Given the description of an element on the screen output the (x, y) to click on. 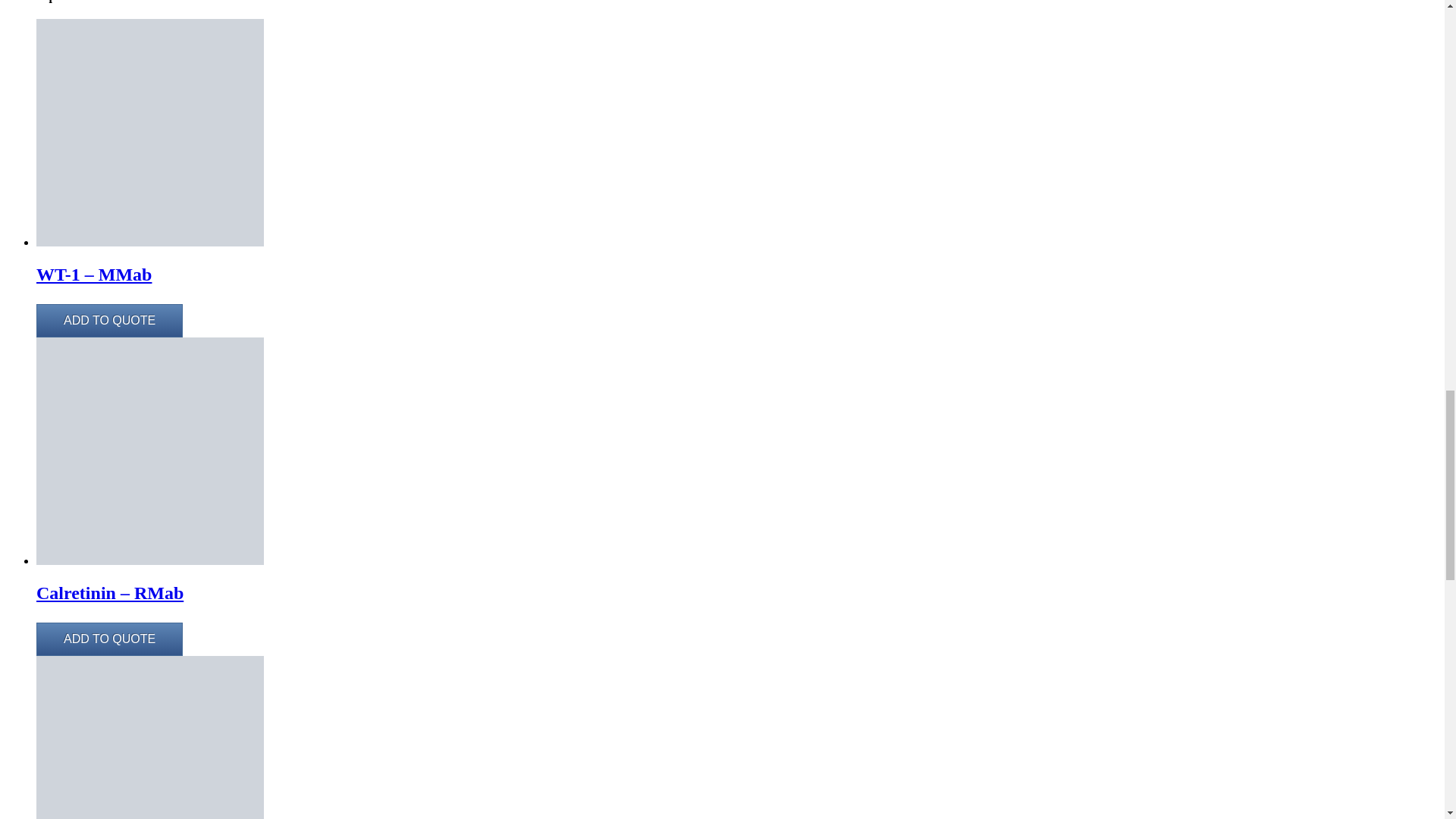
ADD TO QUOTE (109, 320)
